Given the description of an element on the screen output the (x, y) to click on. 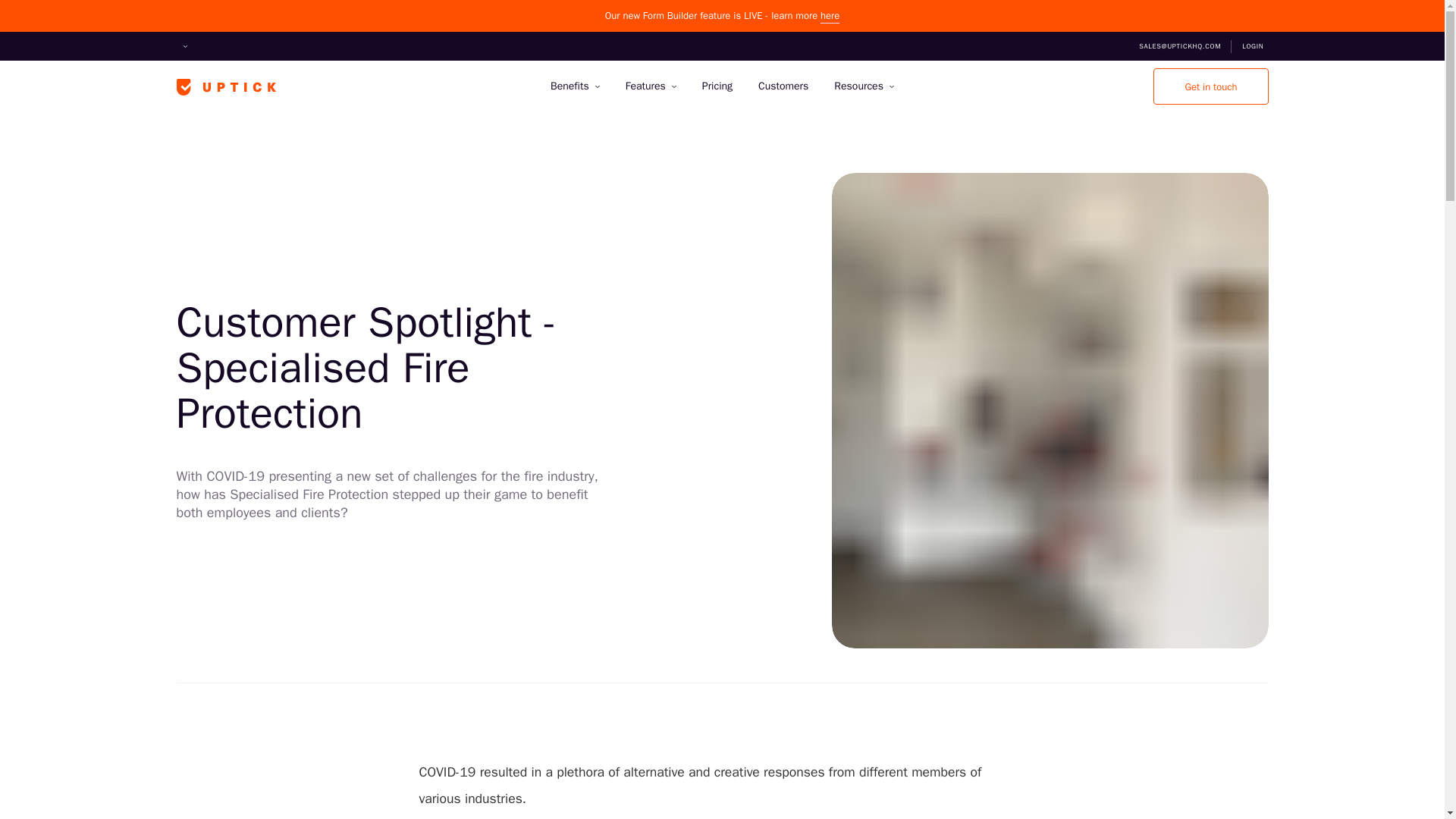
Get in touch (1210, 85)
Benefits (574, 86)
here (830, 15)
Resources (863, 86)
Customers (782, 86)
LOGIN (1252, 46)
Features (651, 86)
Skip to content (14, 39)
